Given the description of an element on the screen output the (x, y) to click on. 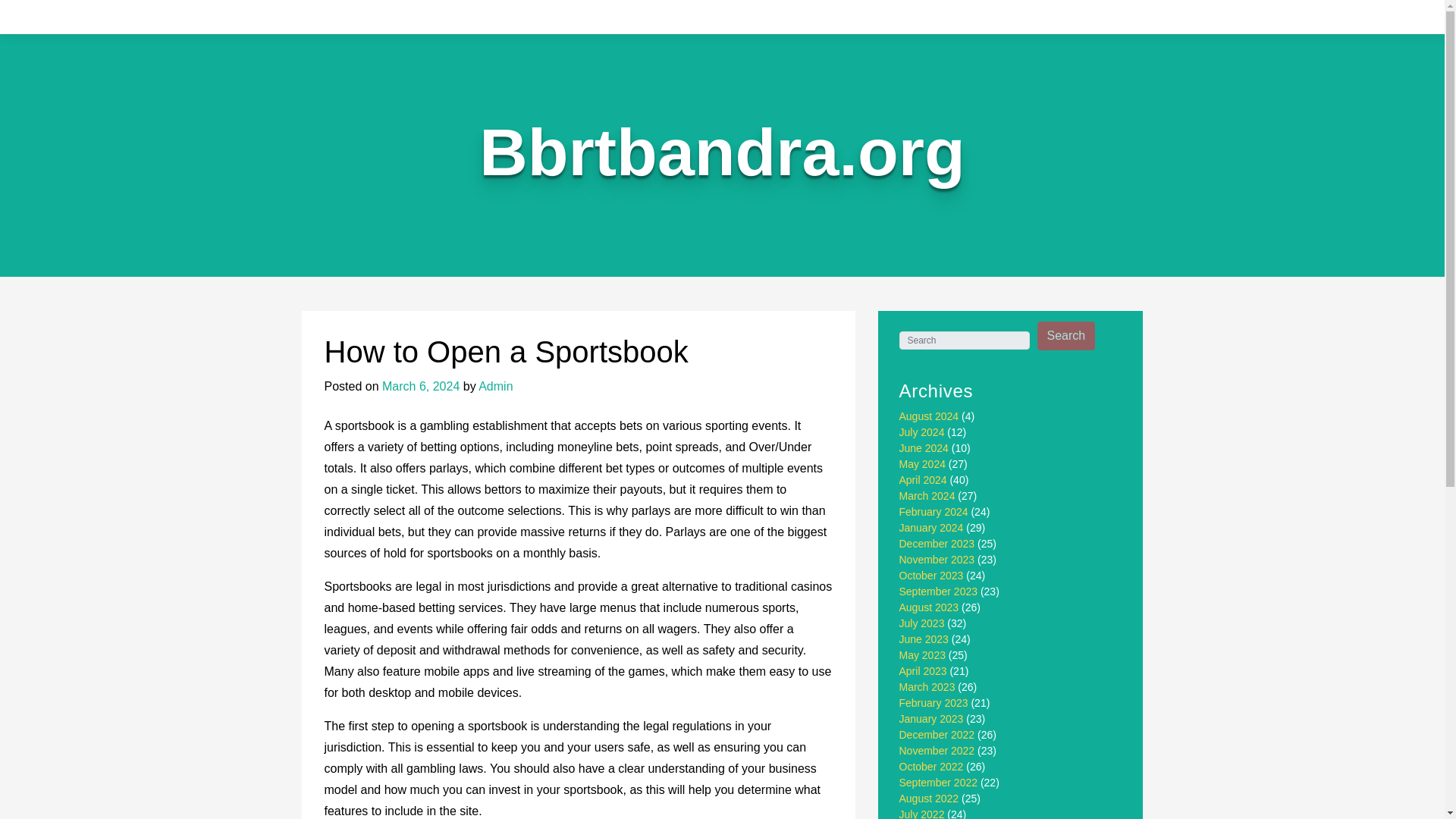
May 2023 (921, 654)
Search (1066, 335)
November 2023 (937, 559)
May 2024 (921, 463)
January 2023 (931, 718)
July 2023 (921, 623)
June 2024 (924, 448)
June 2023 (924, 639)
August 2022 (929, 798)
January 2024 (931, 527)
